Given the description of an element on the screen output the (x, y) to click on. 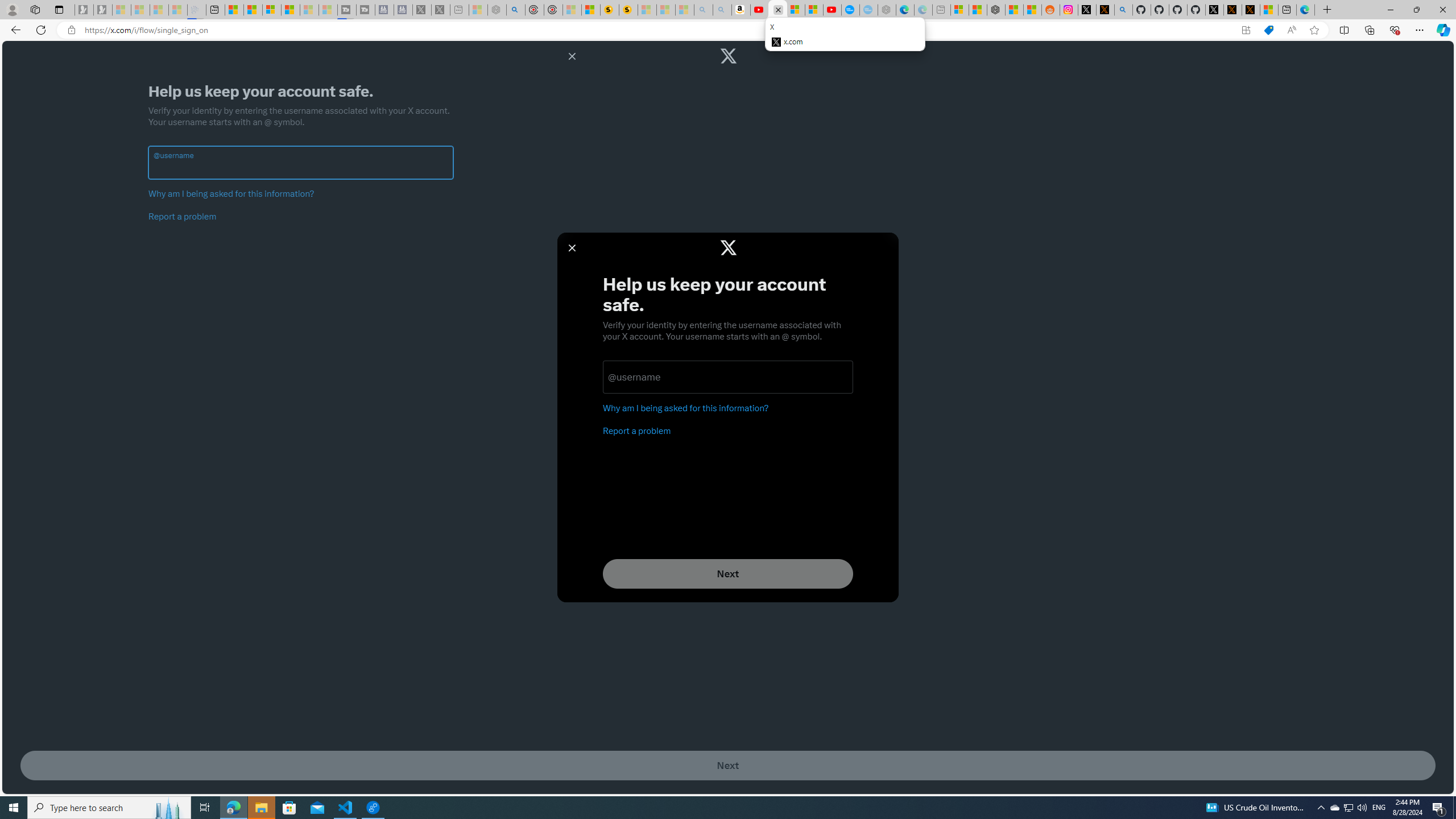
Wildlife - MSN - Sleeping (478, 9)
App available. Install X (1245, 29)
help.x.com | 524: A timeout occurred (1105, 9)
